Given the description of an element on the screen output the (x, y) to click on. 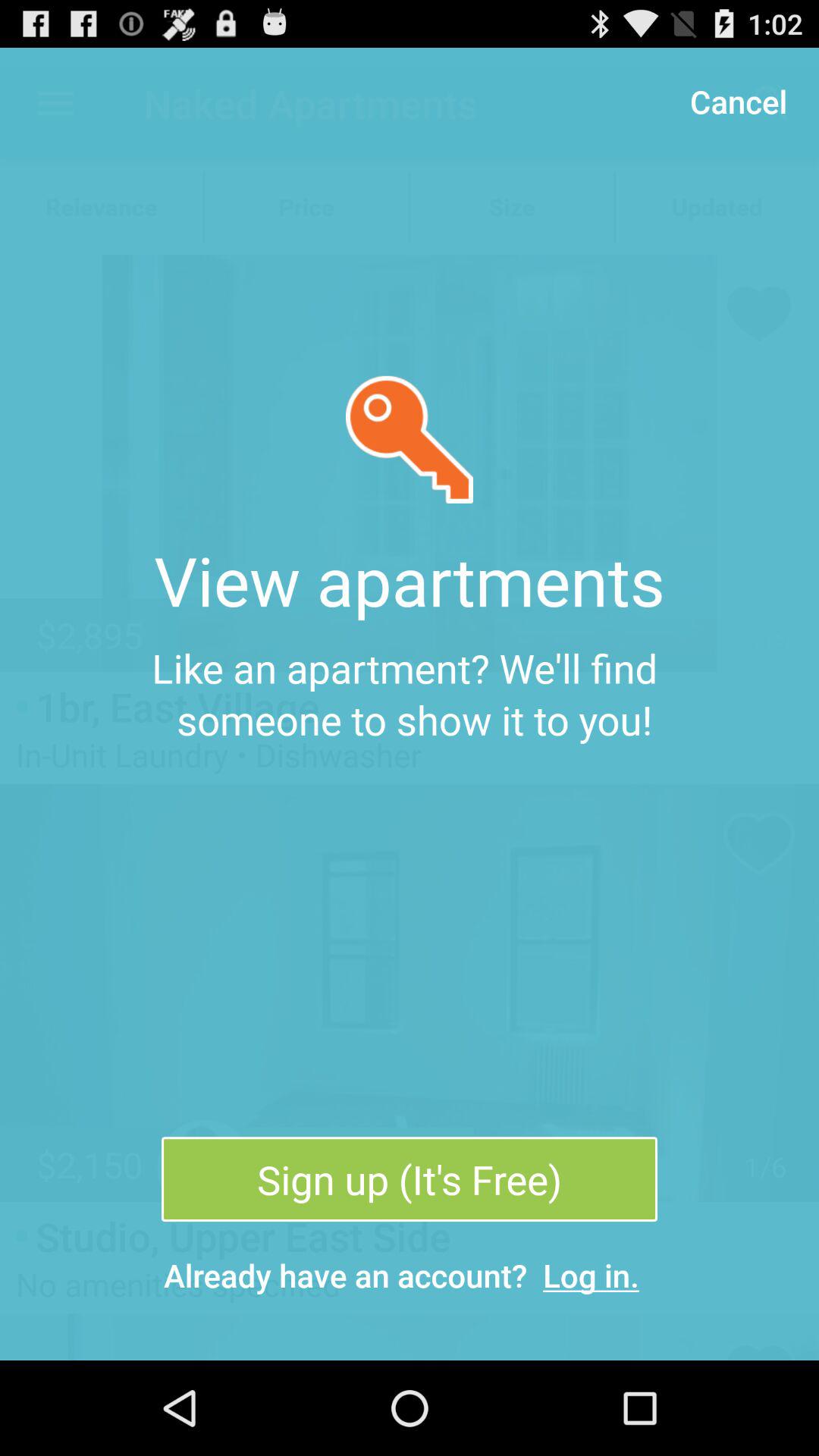
turn off the icon below sign up it item (591, 1274)
